Given the description of an element on the screen output the (x, y) to click on. 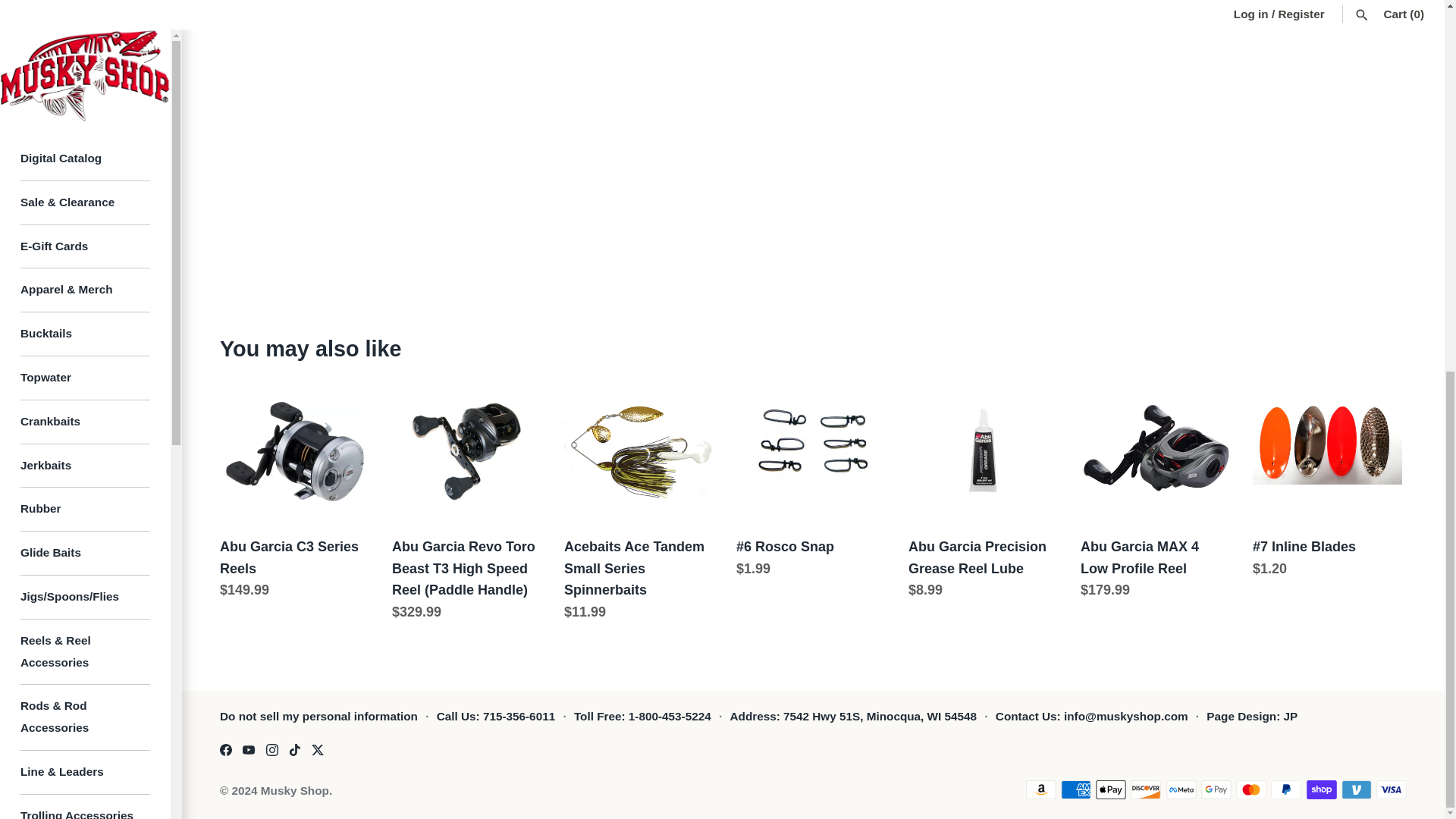
Apple Pay (1110, 789)
Shop Pay (1321, 789)
Discover (1145, 789)
Acebaits Ace Tandem Small Series Spinnerbaits (638, 451)
Venmo (1355, 789)
PayPal (1286, 789)
Meta Pay (1181, 789)
American Express (1075, 789)
Mastercard (1251, 789)
Abu Garcia Precision Grease Reel Lube (983, 451)
Abu Garcia MAX 4 Low Profile Reel (1155, 451)
Youtube (248, 749)
Abu Garcia C3 Series Reels (294, 451)
Amazon (1040, 789)
Sunglasses (84, 337)
